Given the description of an element on the screen output the (x, y) to click on. 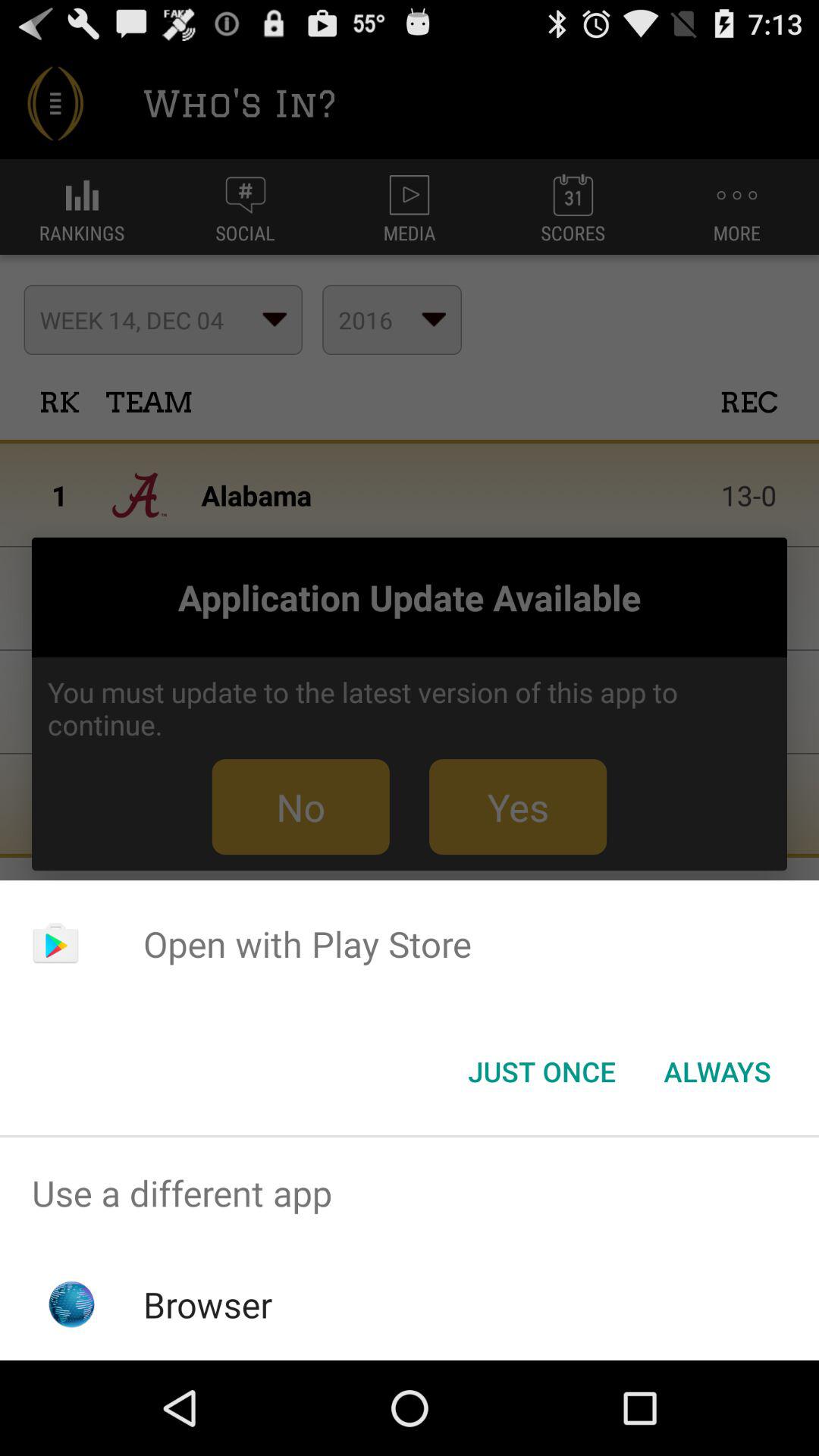
swipe to the just once (541, 1071)
